Given the description of an element on the screen output the (x, y) to click on. 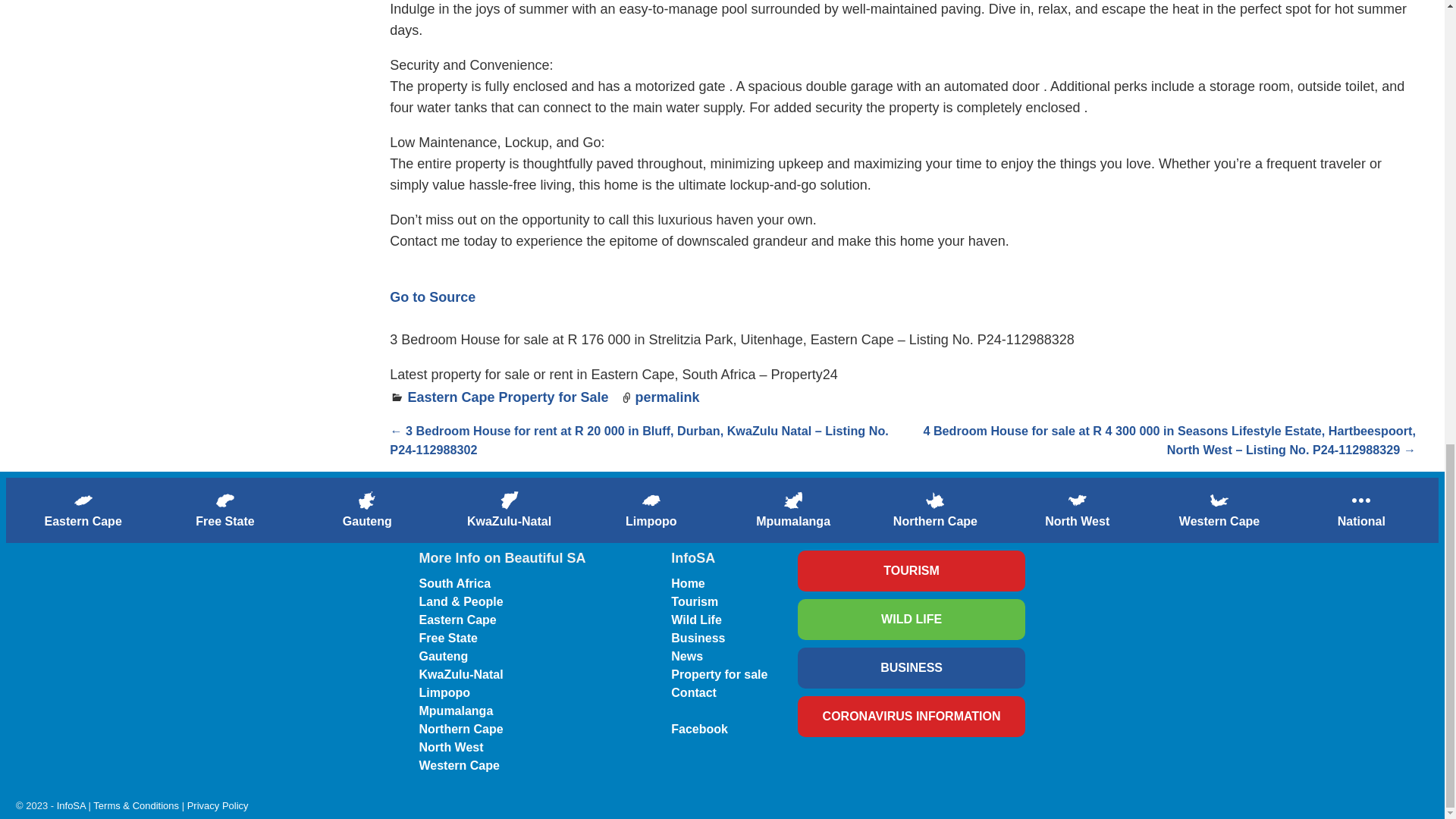
View Listings in Limpopo (650, 510)
View Listings in KwaZulu-Natal  (508, 510)
View Listings in the Free State (224, 510)
View Listings in KwaZulu-Natal  (509, 500)
View Listings in the Eastern Cape (82, 510)
View Listings in the Free State (224, 500)
View Listings in Gauteng (366, 500)
View Listings in the Eastern Cape (83, 500)
View Listings in Limpopo (651, 500)
View Listings in Gauteng (367, 510)
